Given the description of an element on the screen output the (x, y) to click on. 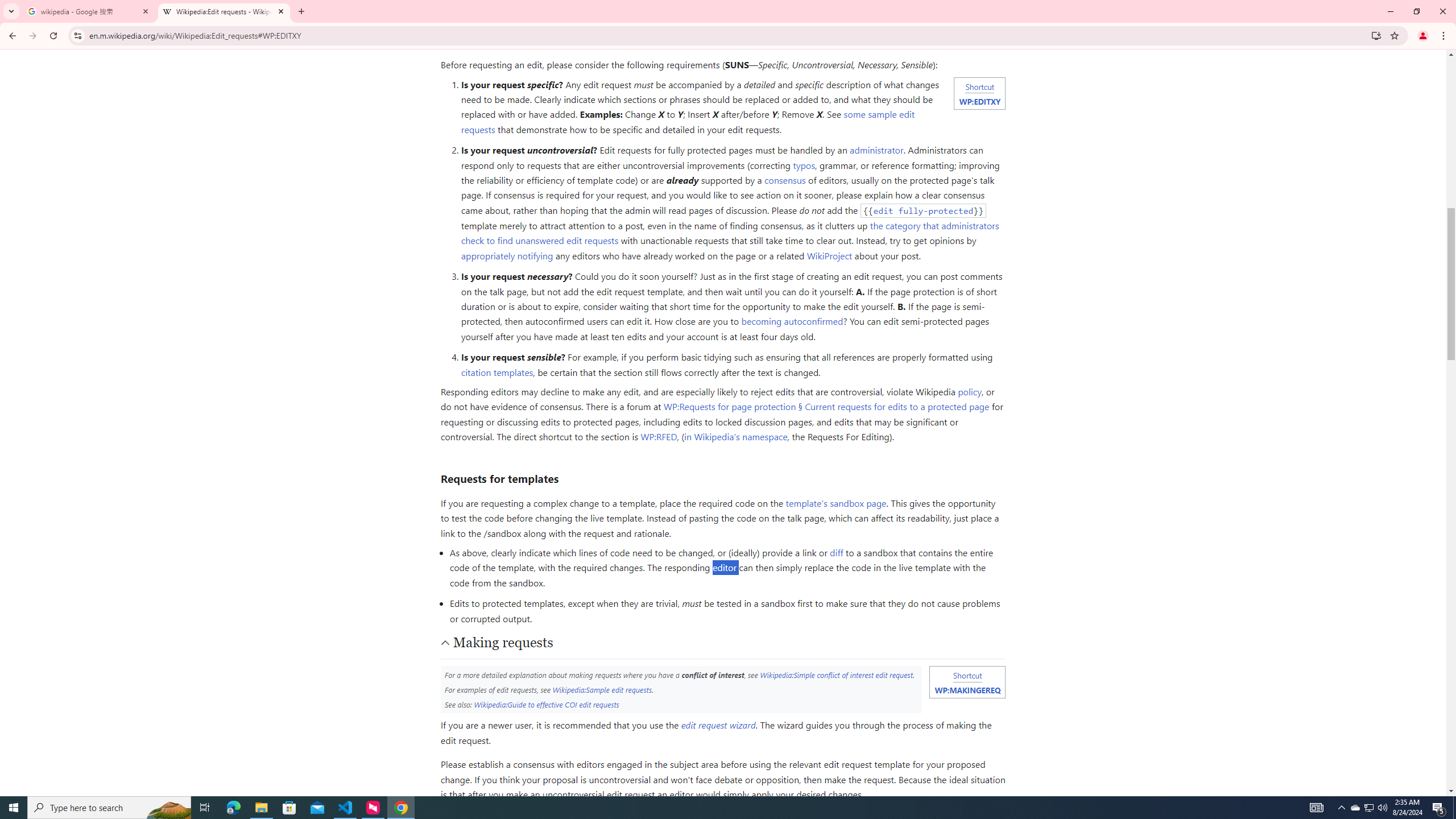
edit request wizard (718, 725)
Wikipedia:Sample edit requests (601, 688)
WP:RFED (658, 436)
Wikipedia:Simple conflict of interest edit request (836, 674)
WikiProject (829, 254)
some sample edit requests (687, 121)
